Given the description of an element on the screen output the (x, y) to click on. 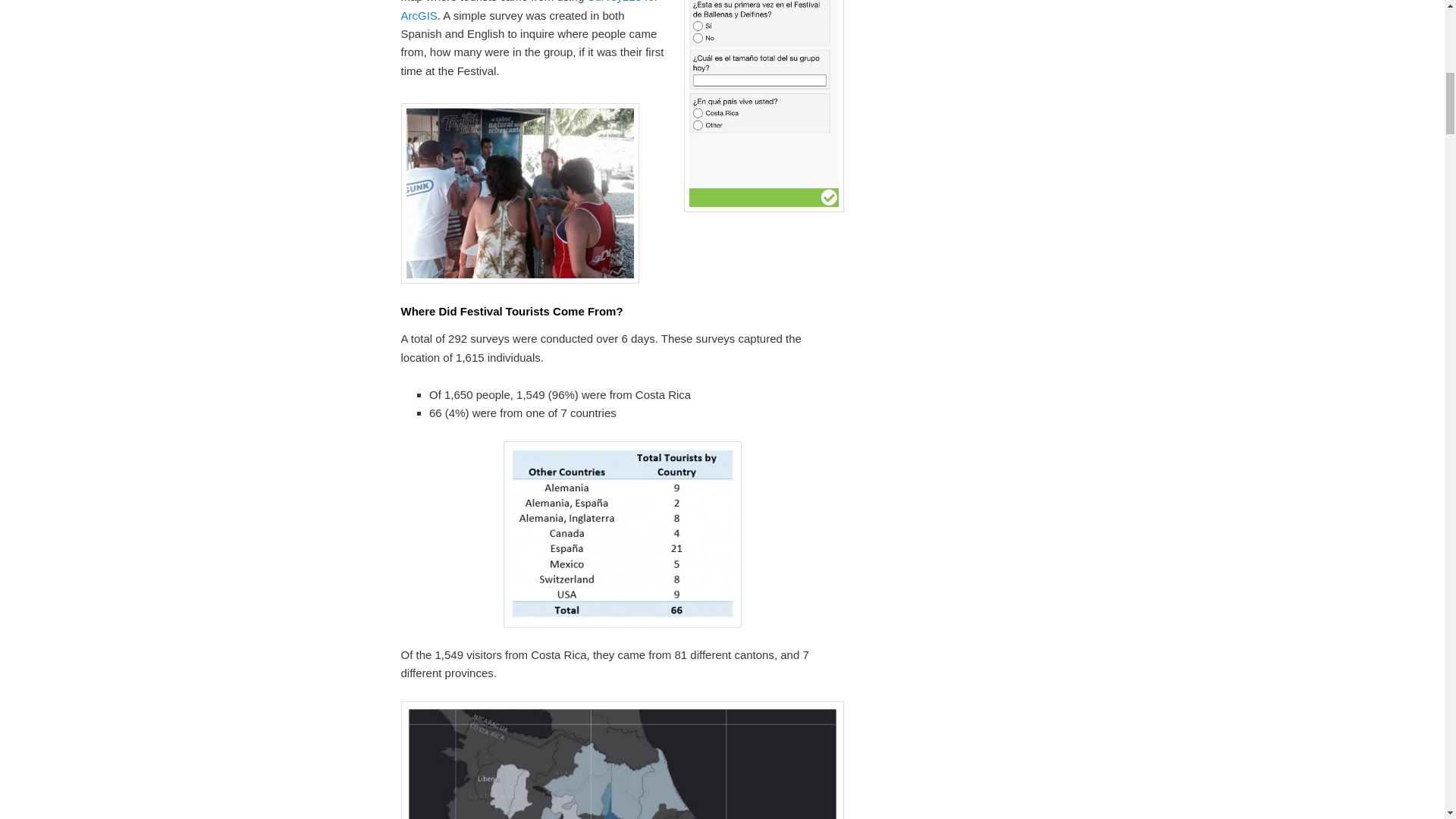
Survey123 for ArcGIS (529, 10)
